Given the description of an element on the screen output the (x, y) to click on. 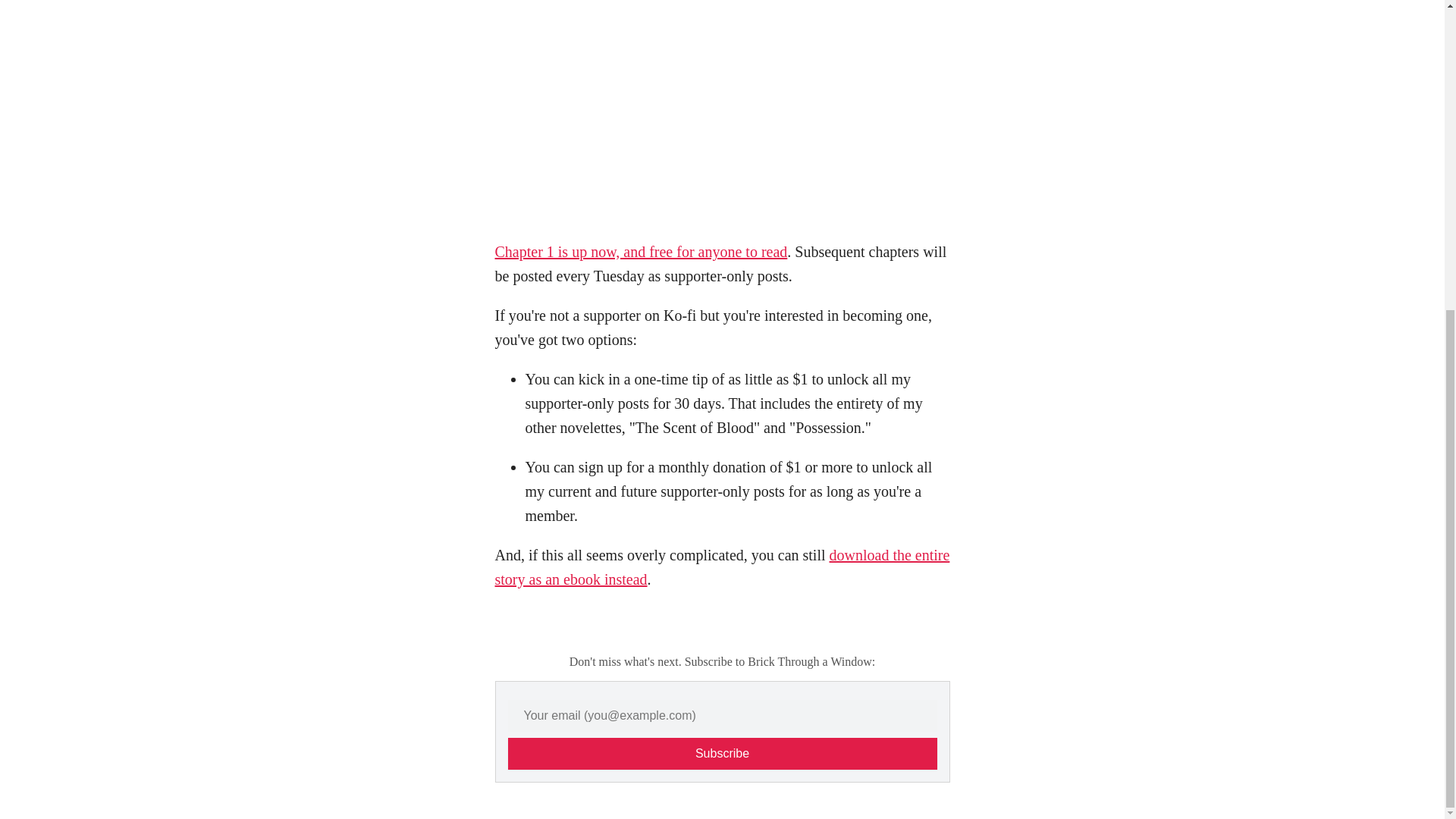
download the entire story as an ebook instead (722, 567)
Chapter 1 is up now, and free for anyone to read (641, 251)
Subscribe (722, 753)
